Given the description of an element on the screen output the (x, y) to click on. 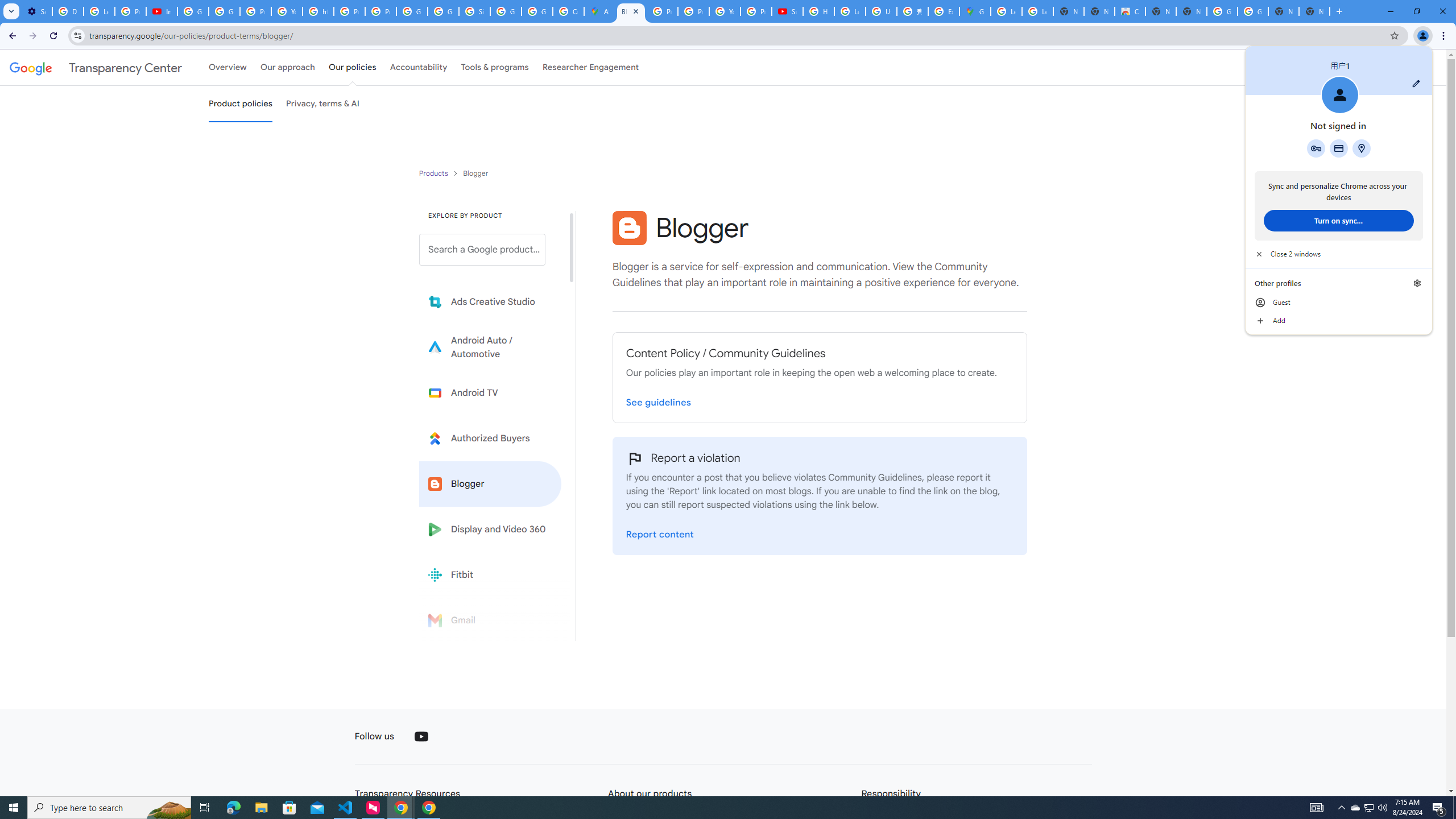
Type here to search (108, 807)
Report a violation on the Blogger Report page (659, 534)
Gmail (490, 619)
Tools & programs (1368, 807)
Microsoft Edge (494, 67)
YouTube (233, 807)
Create your Google Account (421, 736)
